Given the description of an element on the screen output the (x, y) to click on. 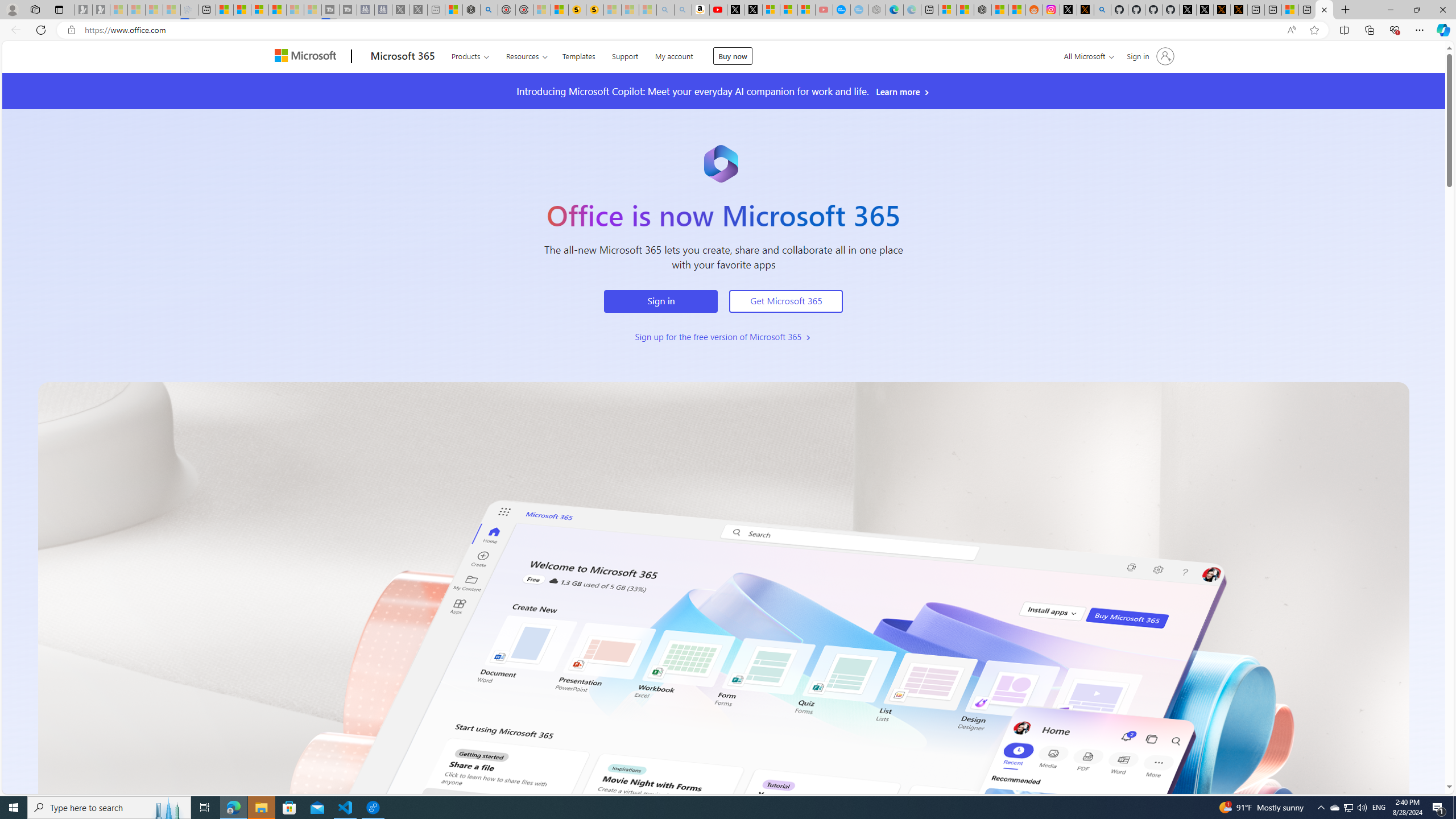
Newsletter Sign Up - Sleeping (101, 9)
Microsoft account | Microsoft Account Privacy Settings (946, 9)
github - Search (1102, 9)
Gloom - YouTube - Sleeping (823, 9)
